Given the description of an element on the screen output the (x, y) to click on. 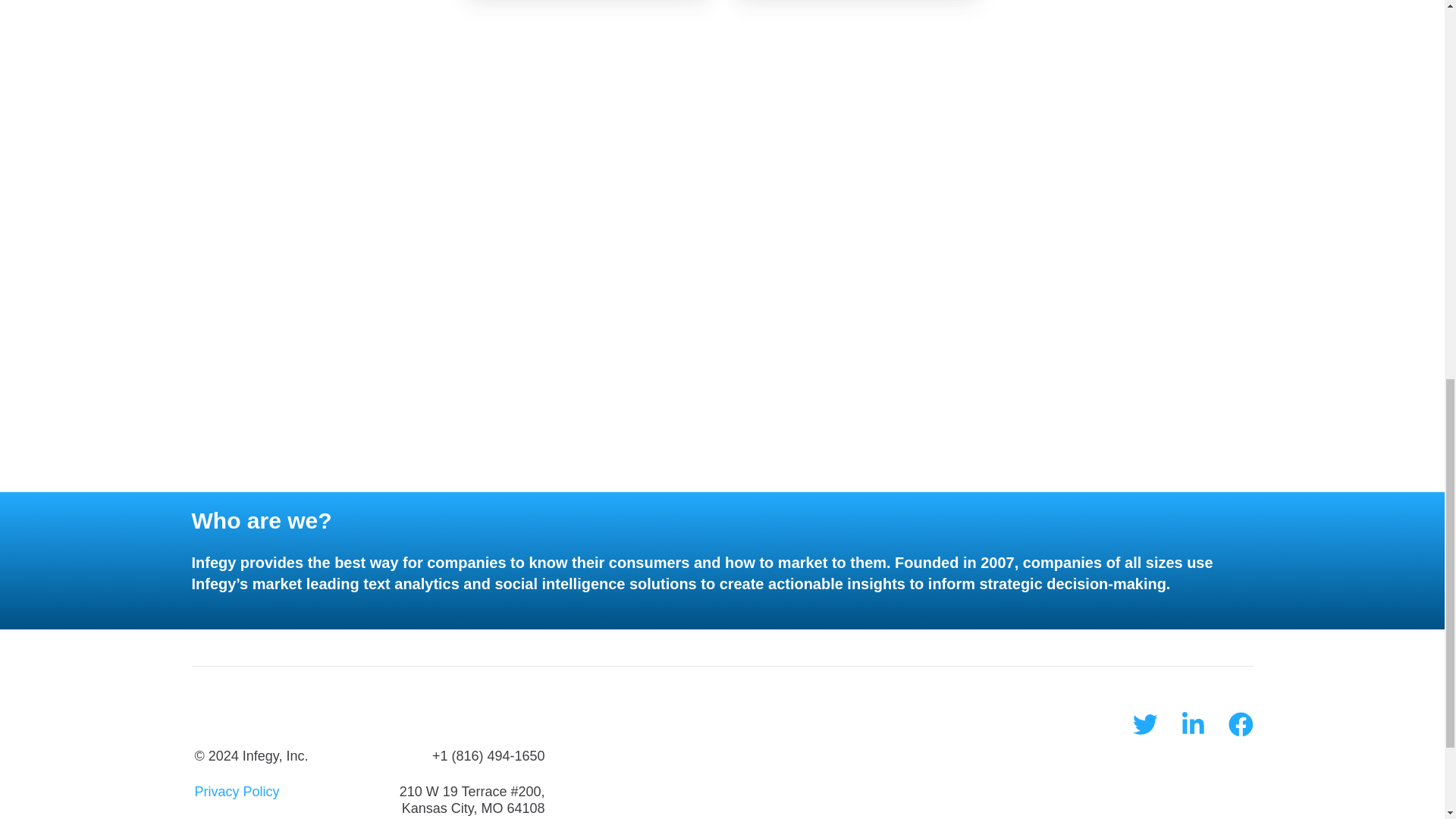
Privacy Policy (236, 791)
